Given the description of an element on the screen output the (x, y) to click on. 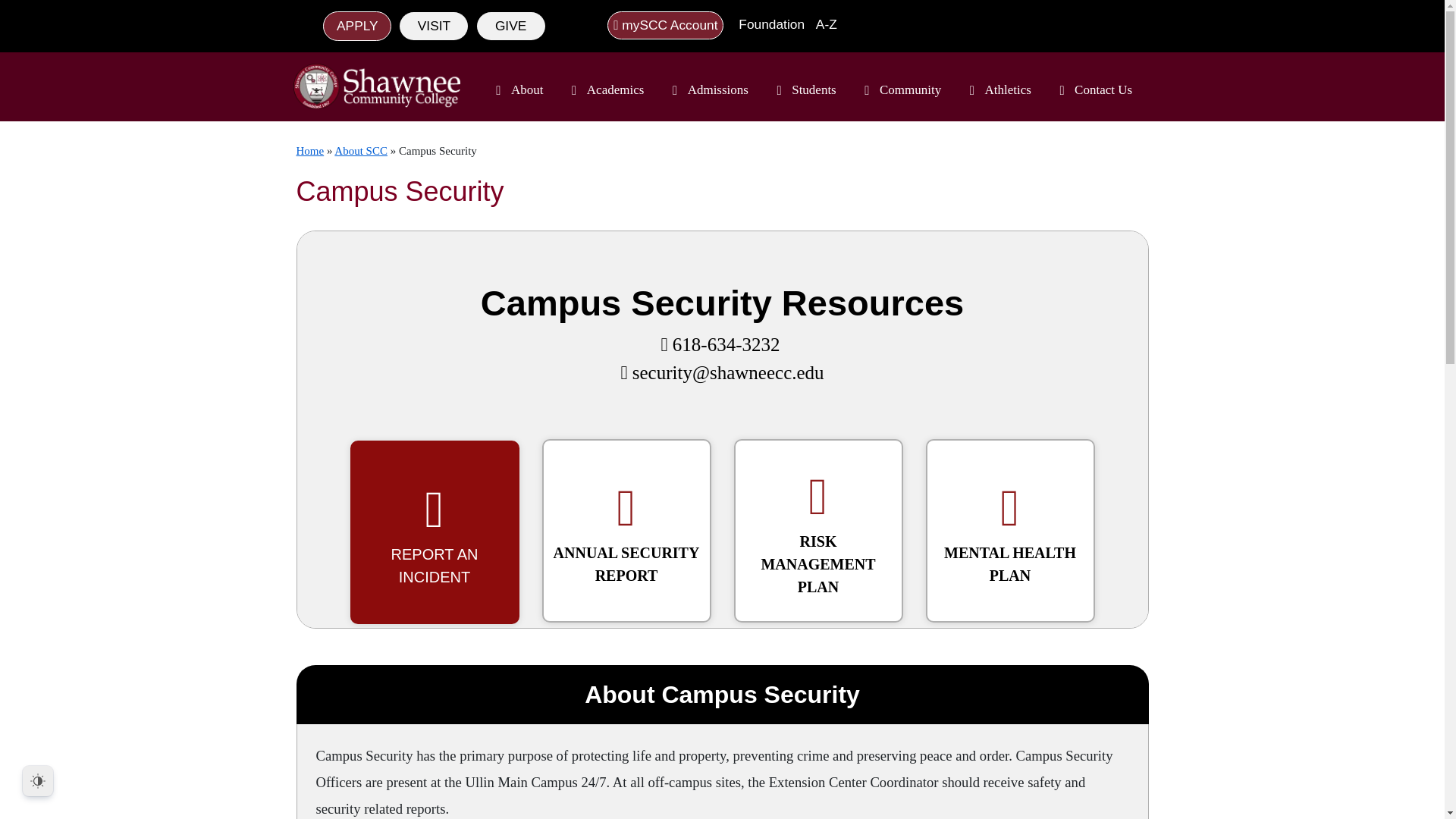
Academics (605, 90)
A-Z (822, 23)
APPLY (357, 25)
mySCC Account (665, 25)
Foundation (765, 23)
GIVE (510, 26)
VISIT (432, 26)
About (517, 90)
